Given the description of an element on the screen output the (x, y) to click on. 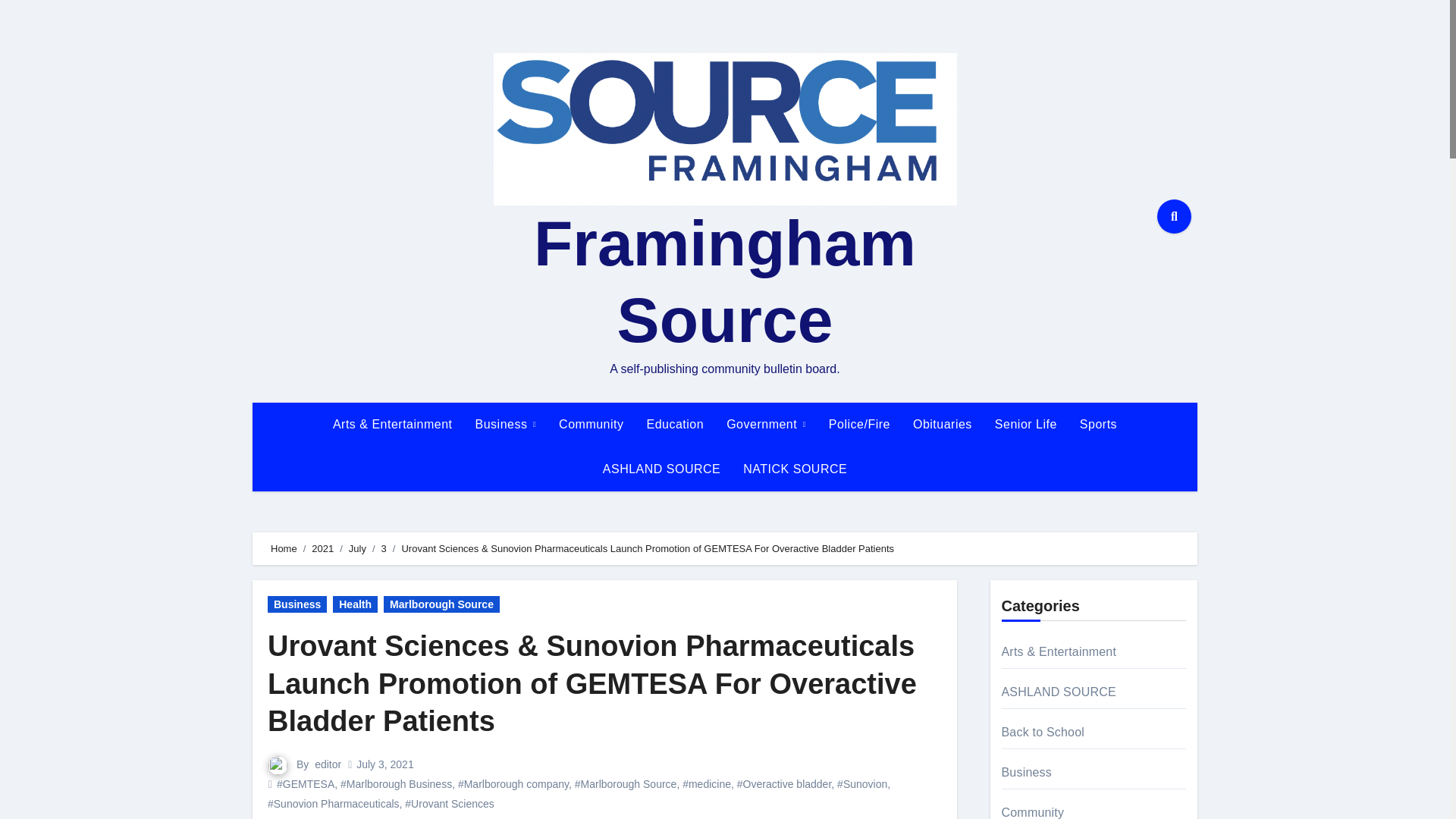
Senior Life (1026, 424)
July (357, 548)
Sports (1098, 424)
Marlborough Source (441, 604)
editor (327, 764)
ASHLAND SOURCE (661, 469)
Framingham Source (724, 281)
Education (675, 424)
Home (283, 548)
Education (675, 424)
